Given the description of an element on the screen output the (x, y) to click on. 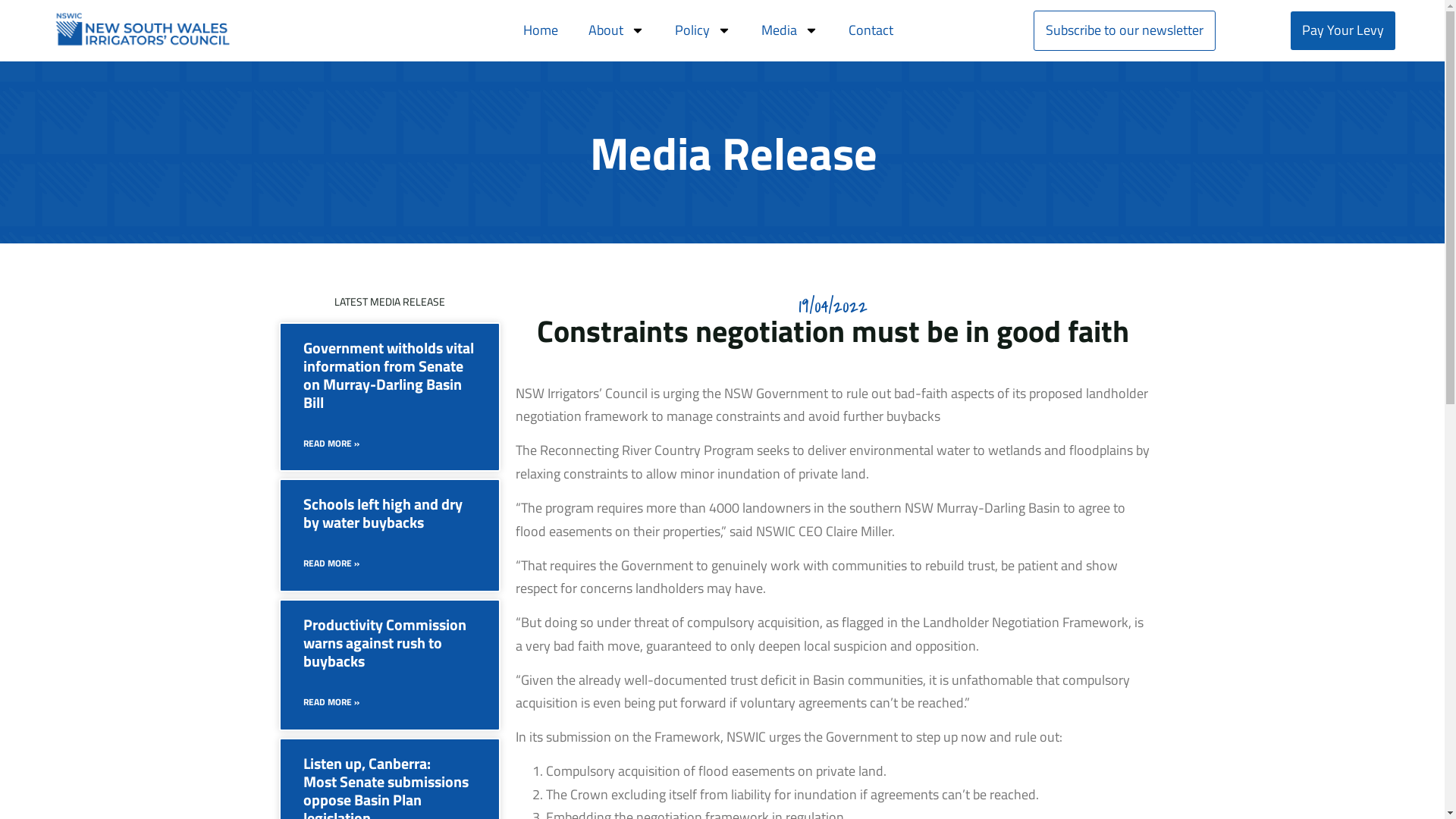
Media Element type: text (789, 30)
Contact Element type: text (870, 30)
Home Element type: text (540, 30)
Productivity Commission warns against rush to buybacks Element type: text (384, 642)
Subscribe to our newsletter Element type: text (1124, 30)
About Element type: text (616, 30)
Pay Your Levy Element type: text (1342, 30)
Schools left high and dry by water buybacks Element type: text (382, 512)
Policy Element type: text (702, 30)
